Given the description of an element on the screen output the (x, y) to click on. 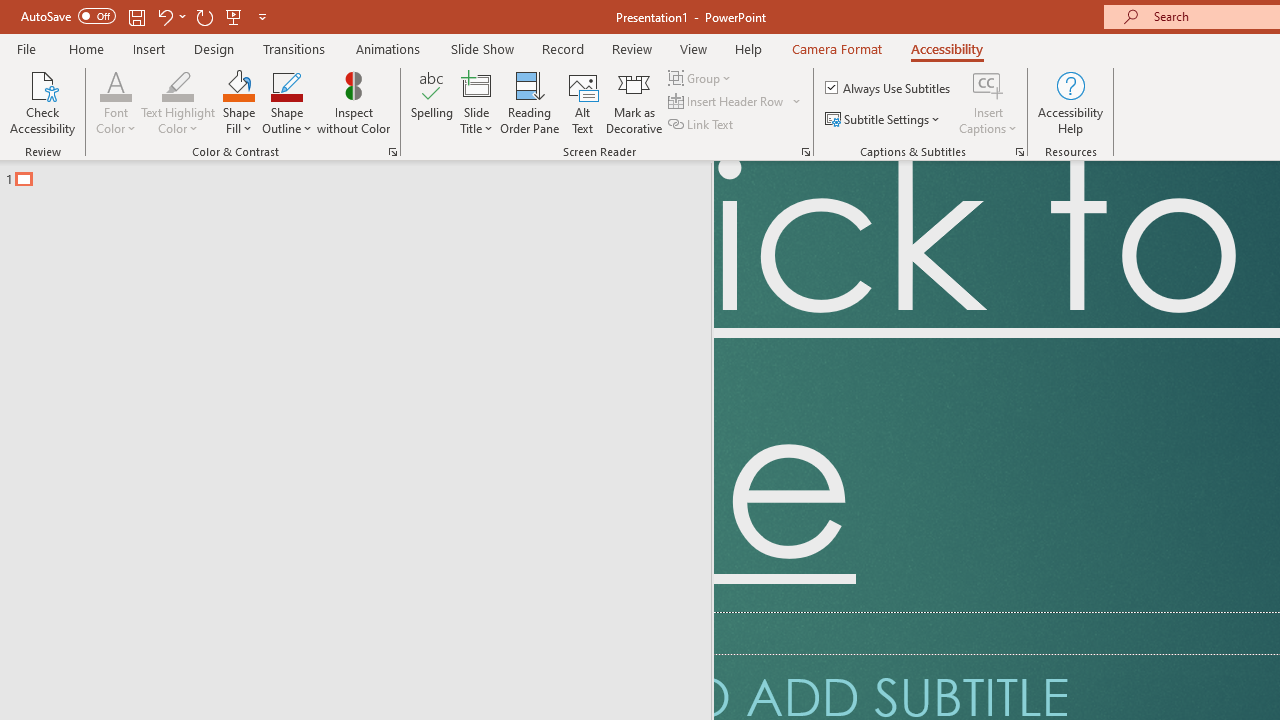
Subtitle Settings (884, 119)
Link Text (702, 124)
